Given the description of an element on the screen output the (x, y) to click on. 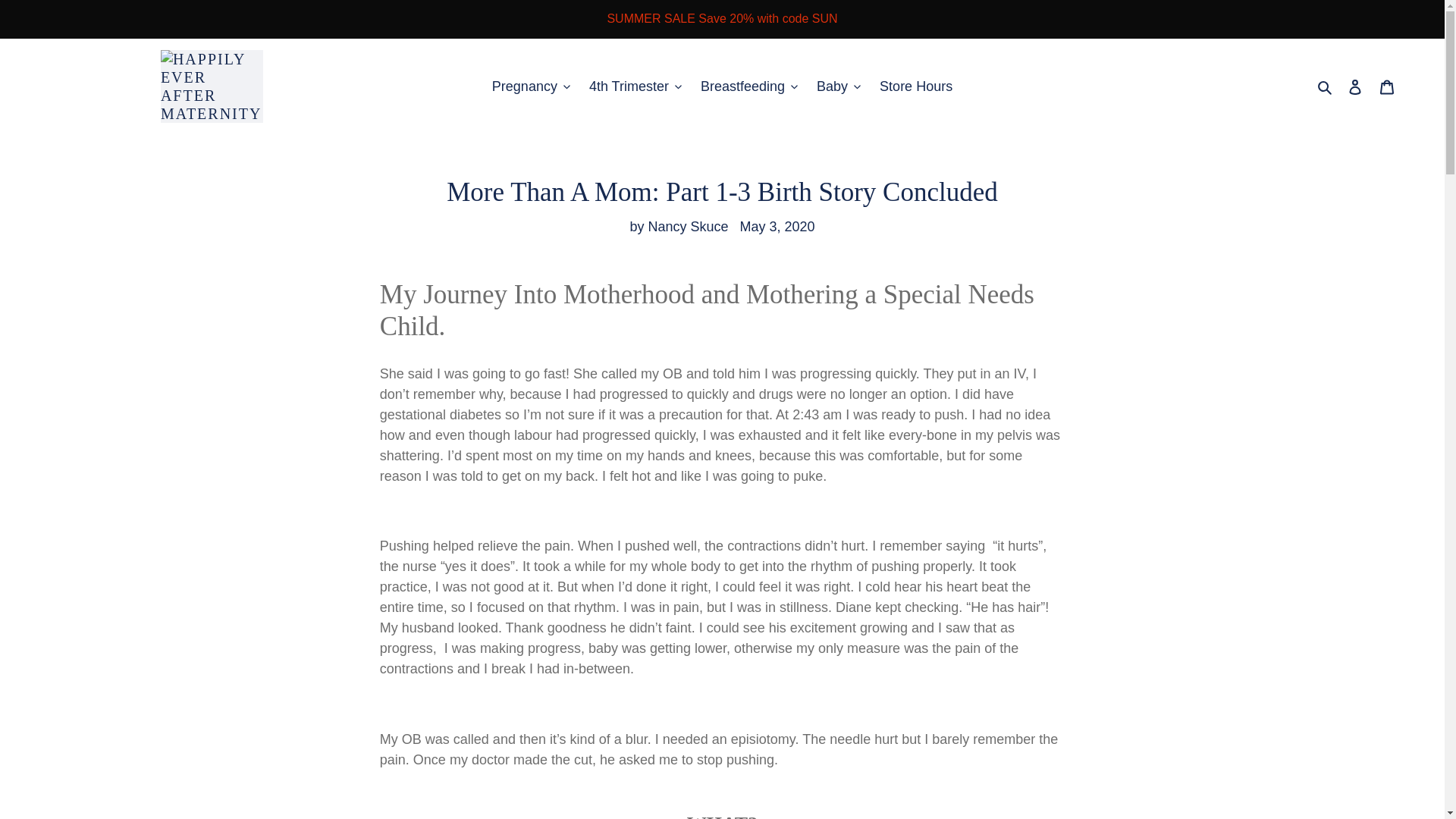
4th Trimester (634, 86)
Pregnancy (531, 86)
Log in (1355, 85)
Breastfeeding (749, 86)
Store Hours (915, 86)
Baby (838, 86)
Search (1326, 86)
